Given the description of an element on the screen output the (x, y) to click on. 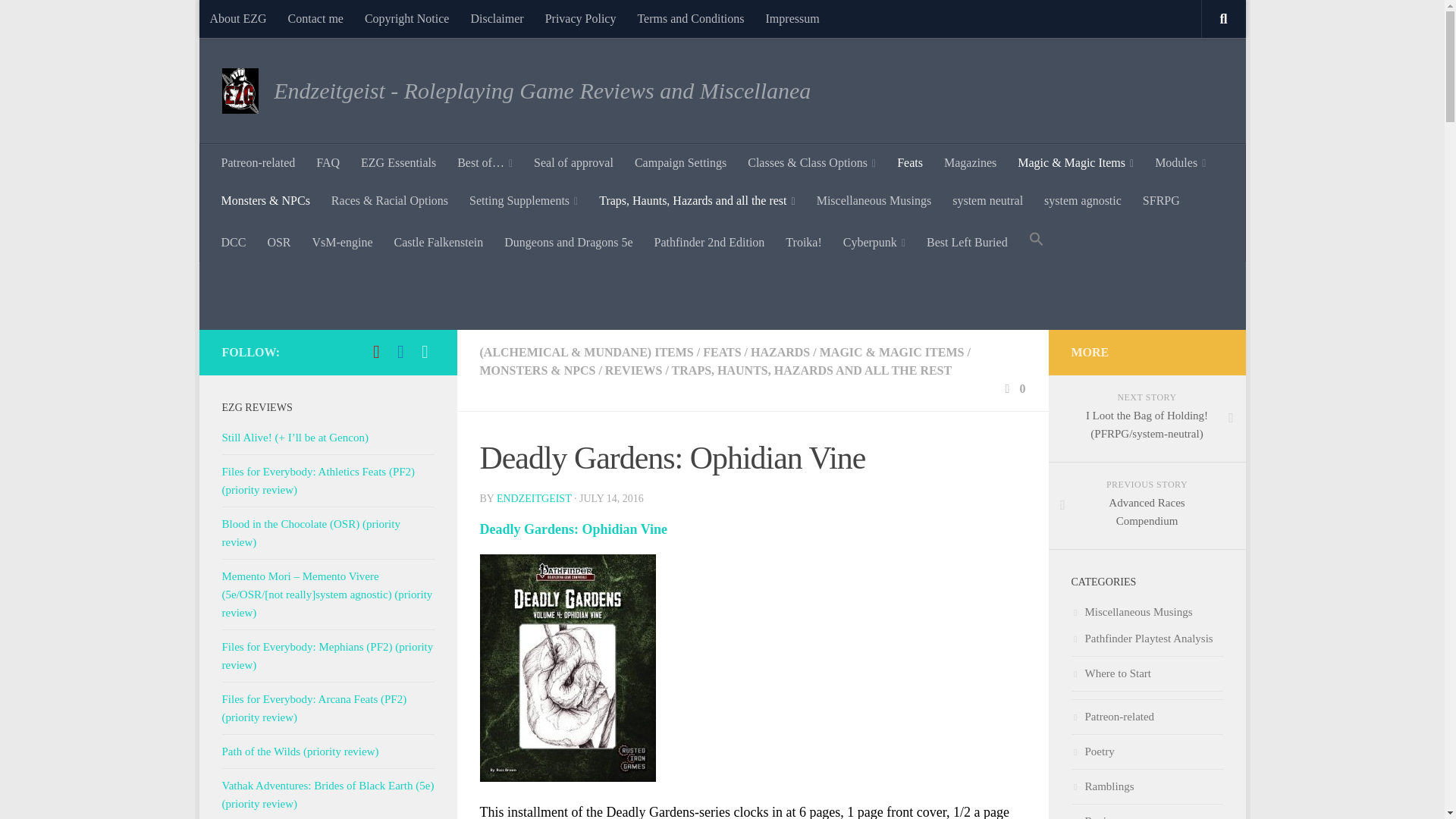
Skip to content (258, 20)
Posts by endzeitgeist (534, 498)
Follow us on Facebook (400, 352)
Follow us on Patreon (375, 352)
